Given the description of an element on the screen output the (x, y) to click on. 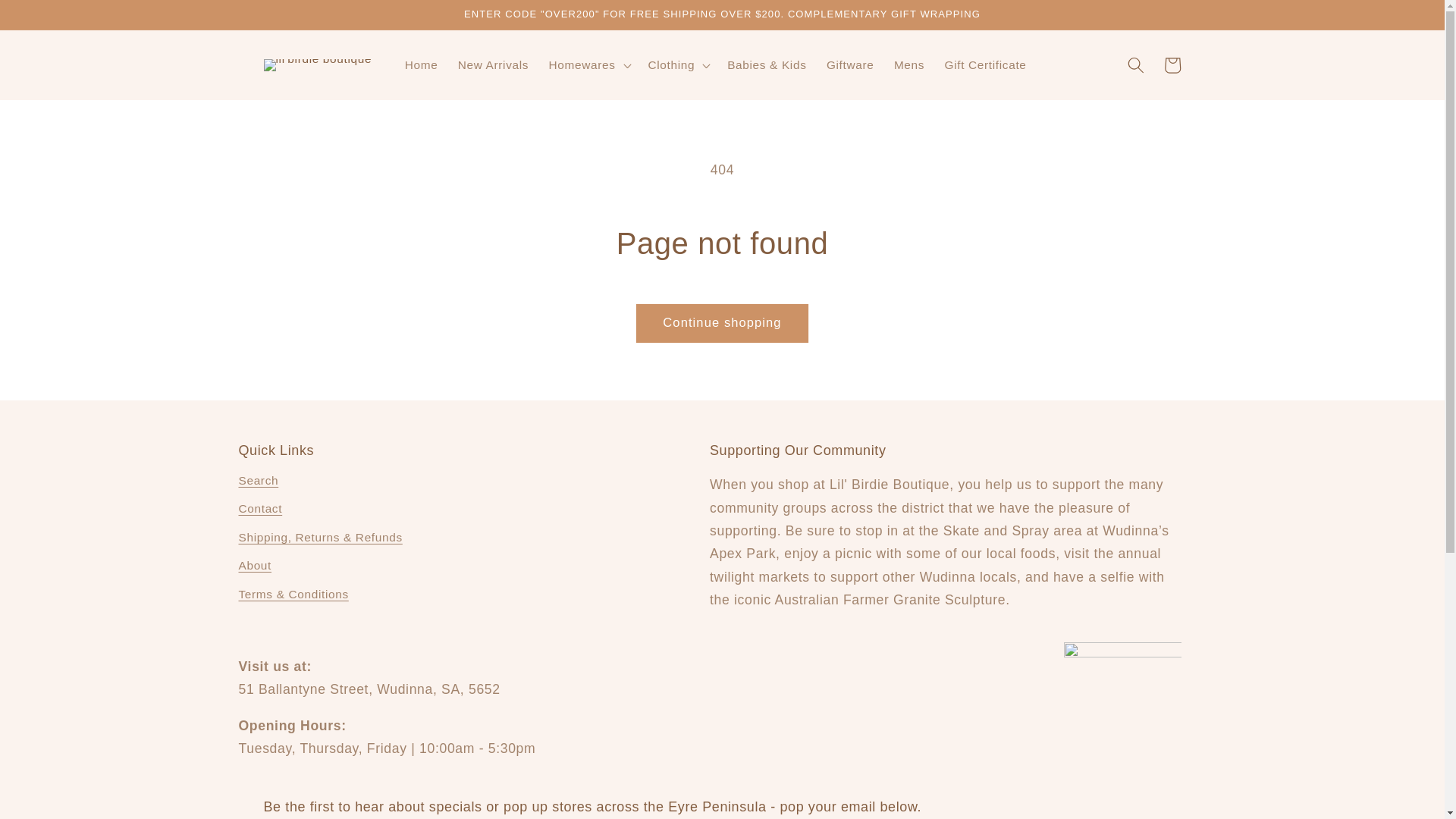
New Arrivals (493, 64)
Skip to content (49, 18)
Home (420, 64)
